Given the description of an element on the screen output the (x, y) to click on. 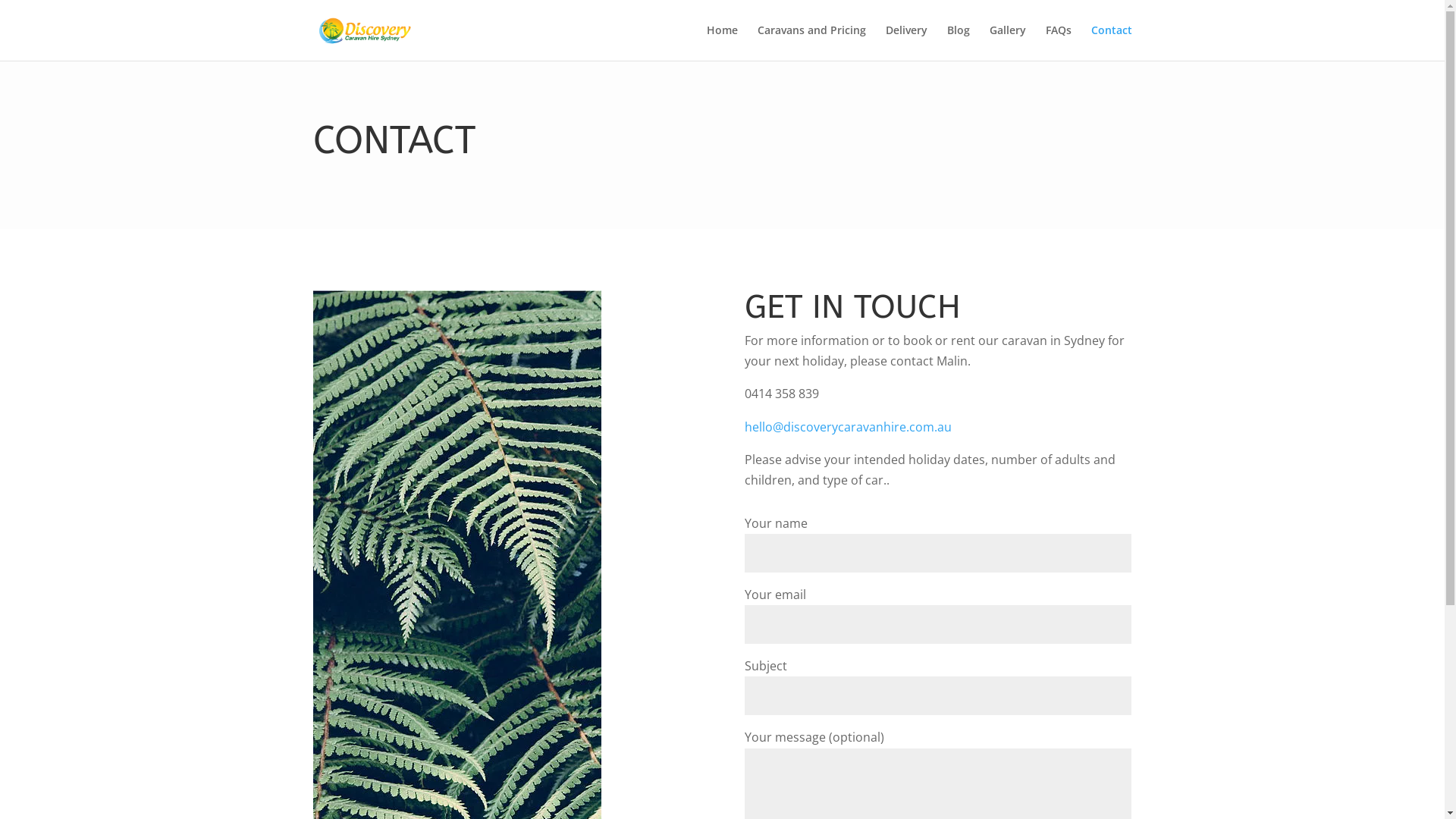
Contact Element type: text (1110, 42)
Delivery Element type: text (906, 42)
FAQs Element type: text (1057, 42)
Caravans and Pricing Element type: text (810, 42)
Home Element type: text (721, 42)
Gallery Element type: text (1006, 42)
hello@discoverycaravanhire.com.au Element type: text (847, 426)
Blog Element type: text (957, 42)
